Given the description of an element on the screen output the (x, y) to click on. 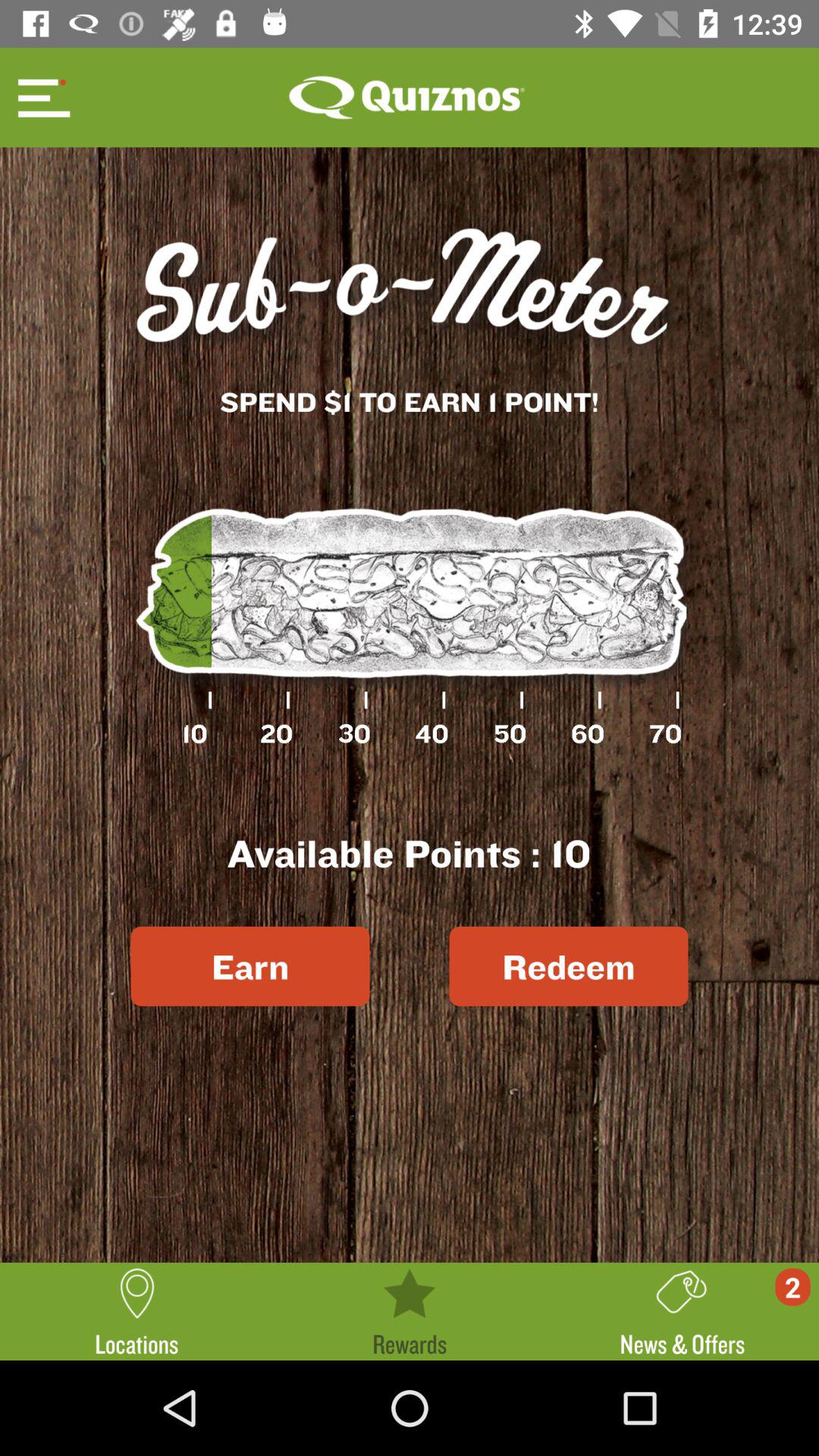
open options (41, 97)
